Given the description of an element on the screen output the (x, y) to click on. 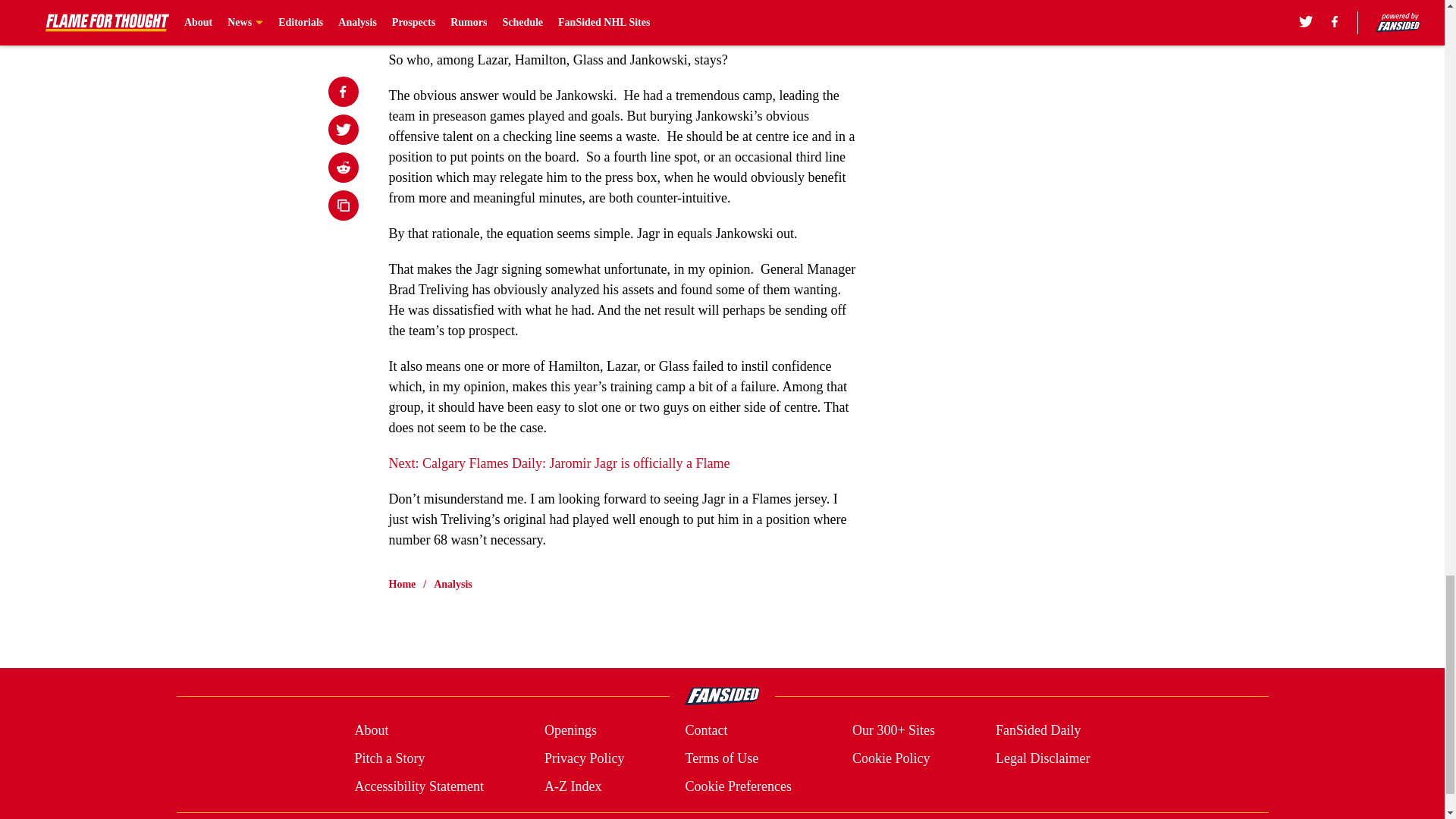
About (370, 730)
Openings (570, 730)
Kris Versteeg (521, 5)
Analysis (452, 584)
Contact (705, 730)
Home (401, 584)
Matt Stajan (576, 23)
